Given the description of an element on the screen output the (x, y) to click on. 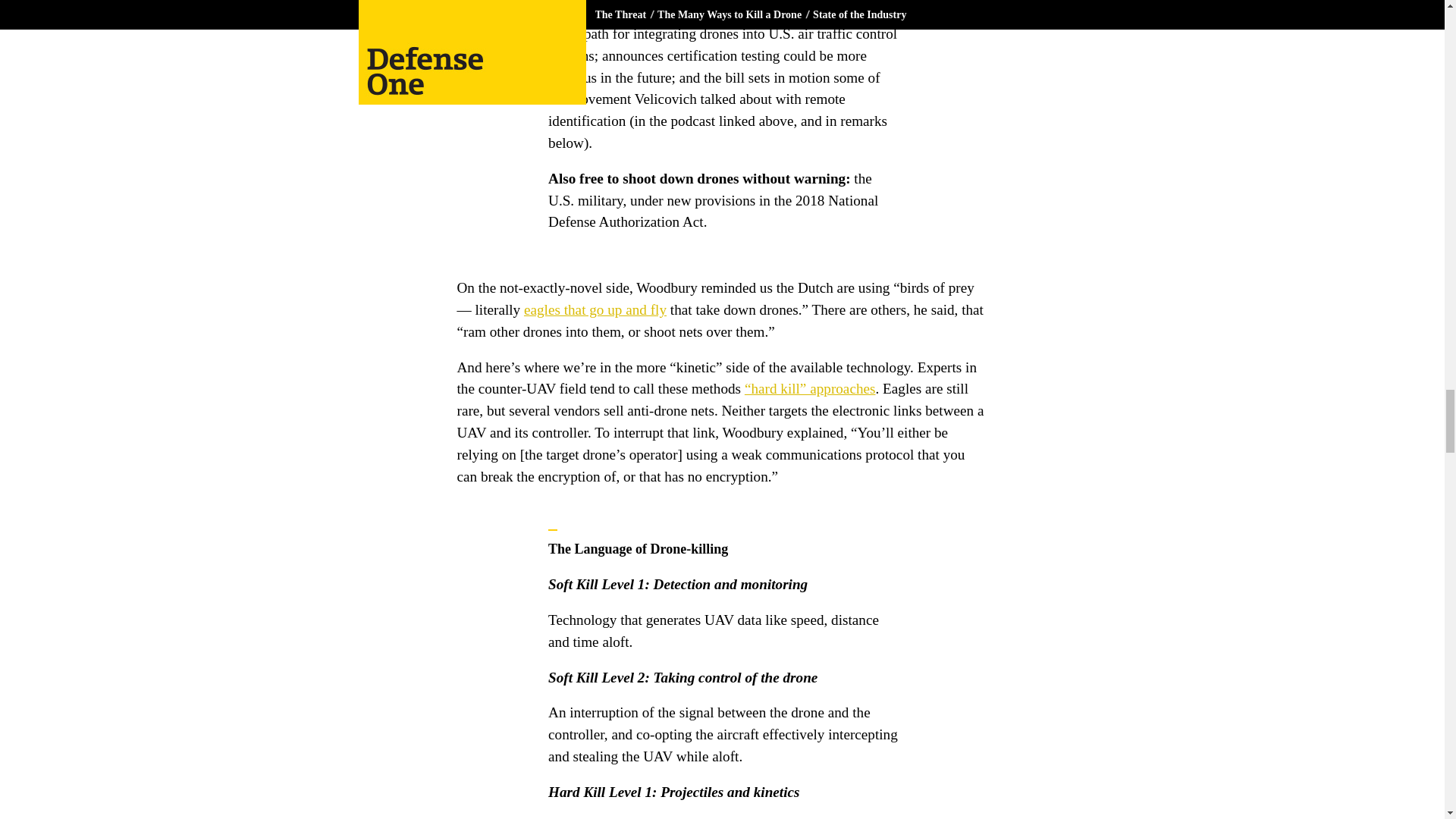
eagles that go up and fly (595, 309)
